Given the description of an element on the screen output the (x, y) to click on. 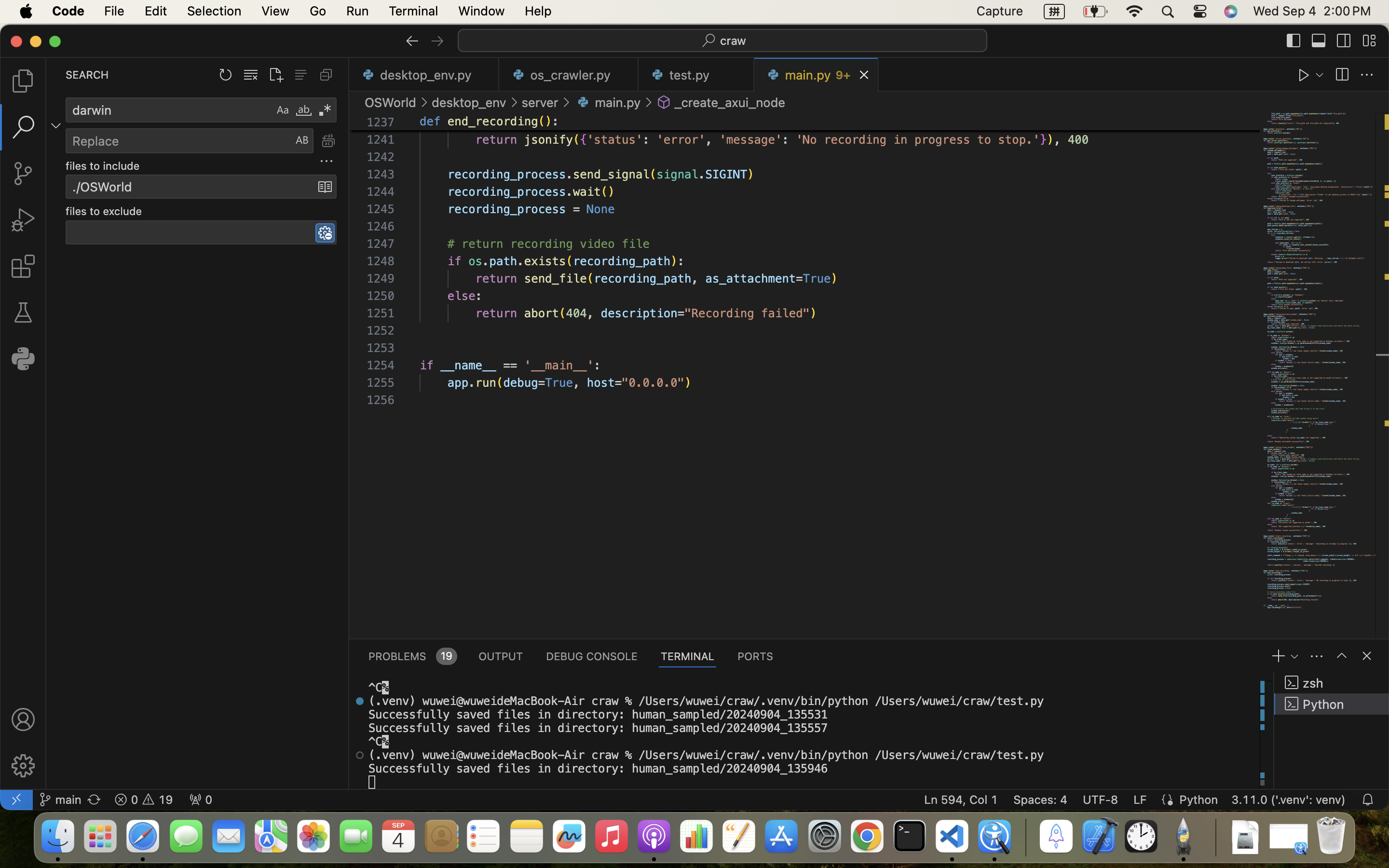
craw Element type: AXStaticText (733, 40)
 Element type: AXCheckBox (1341, 655)
def Element type: AXStaticText (429, 121)
 Element type: AXStaticText (359, 700)
_create_axui_node Element type: AXGroup (729, 101)
